Given the description of an element on the screen output the (x, y) to click on. 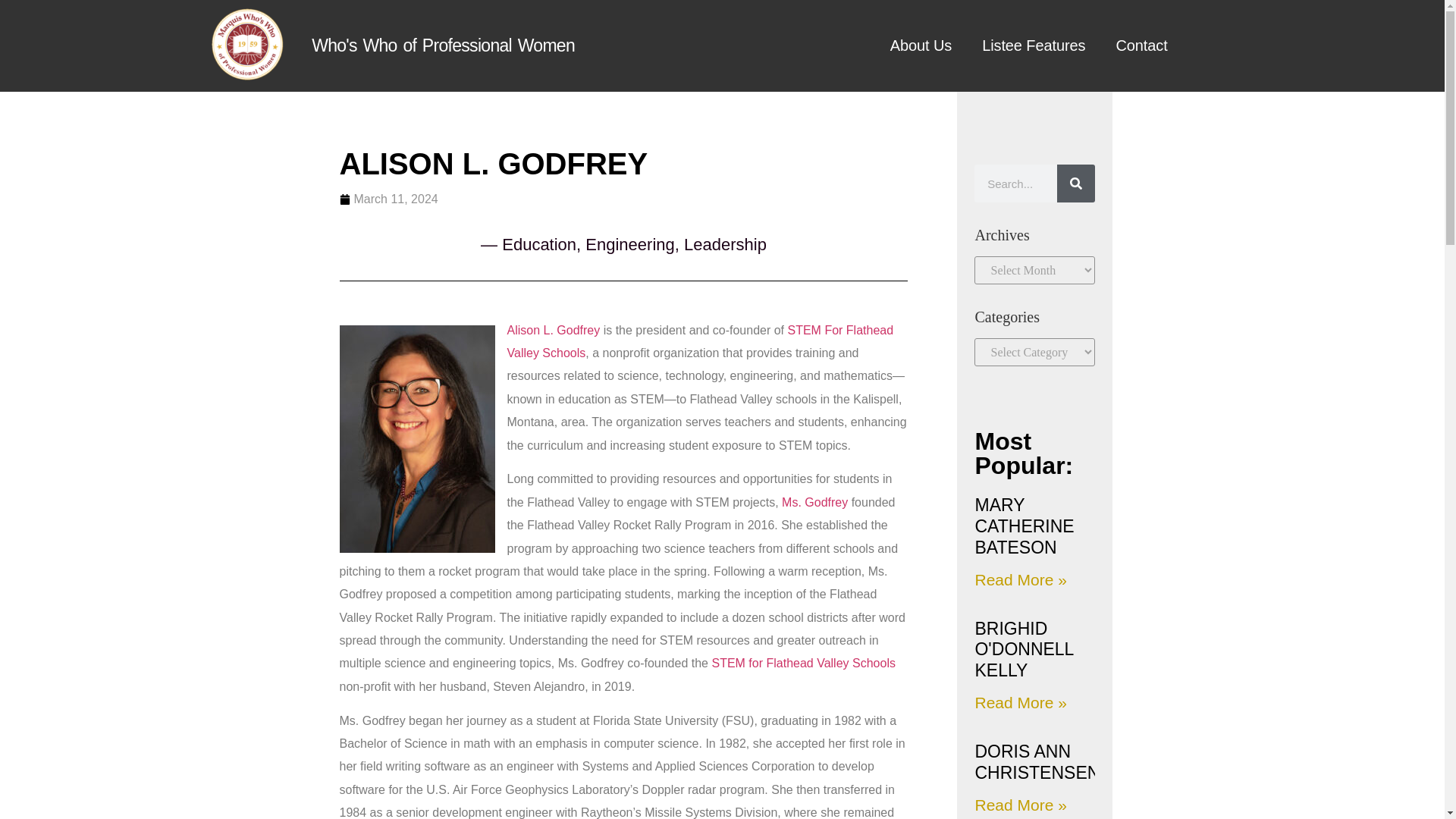
Who's Who of Professional Women (443, 45)
MARY CATHERINE BATESON (1024, 525)
About Us (920, 45)
STEM for Flathead Valley Schools (803, 662)
March 11, 2024 (388, 199)
Listee Features (1033, 45)
BRIGHID O'DONNELL KELLY (1023, 649)
Alison L. Godfrey  (554, 329)
Leadership (725, 244)
Ms. Godfrey (814, 502)
